Given the description of an element on the screen output the (x, y) to click on. 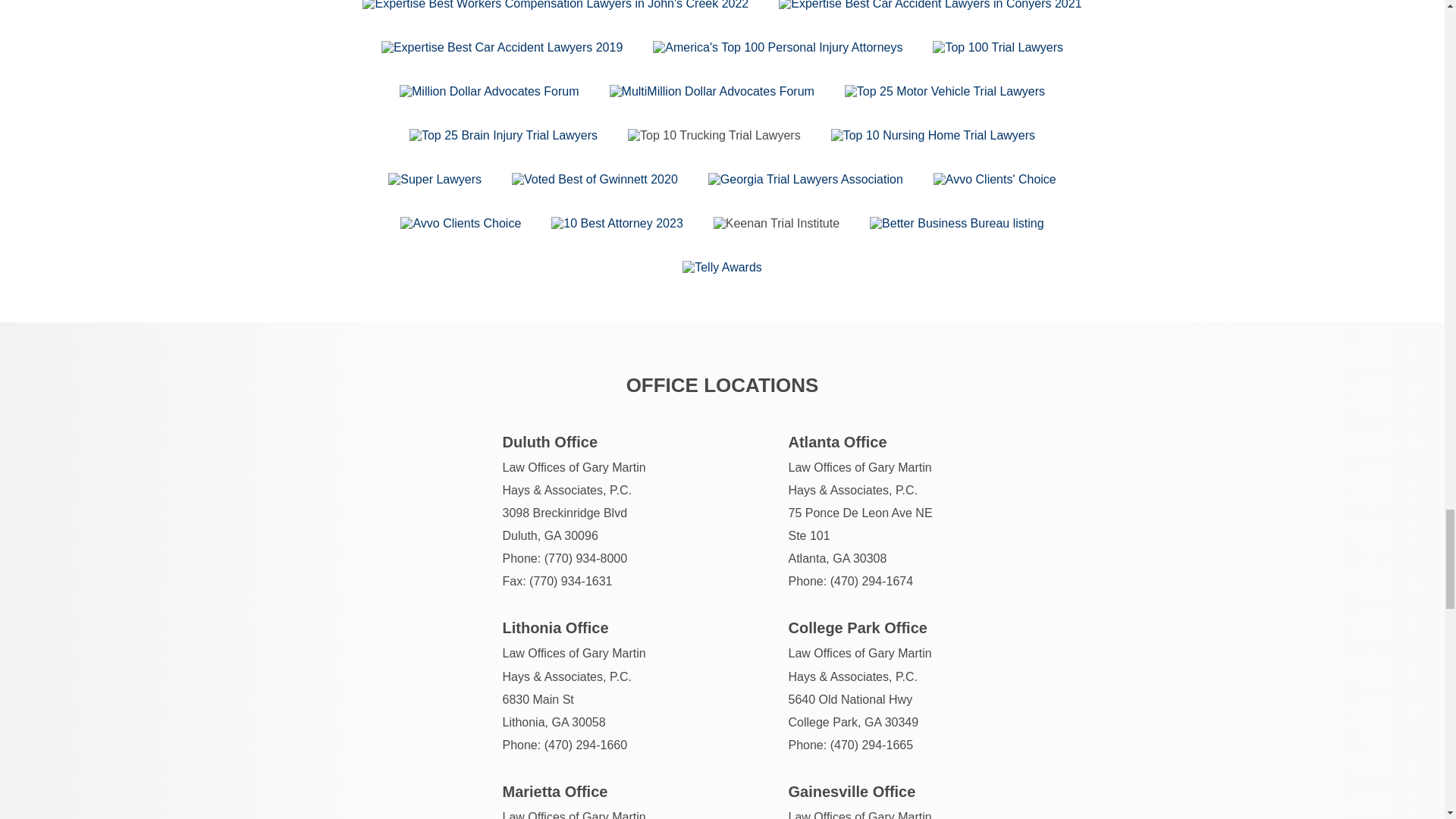
Voted Best of Gwinnett 2020 (595, 179)
Expertise Best Car Accident Lawyers in Conyers 2021 (929, 5)
Top 100 Trial Lawyers (997, 47)
Top 25 Brain Injury Trial Lawyers (502, 135)
MultiMillion Dollar Advocates Forum (711, 91)
Million Dollar Advocates Forum (488, 91)
Top 10 Nursing Home Trial Lawyers (933, 135)
Expertise Best Car Accident Lawyers 2019 (502, 47)
Super Lawyers (434, 179)
Top 25 Motor Vehicle Trial Lawyers (944, 91)
America's Top 100 Personal Injury Attorneys (777, 47)
